Given the description of an element on the screen output the (x, y) to click on. 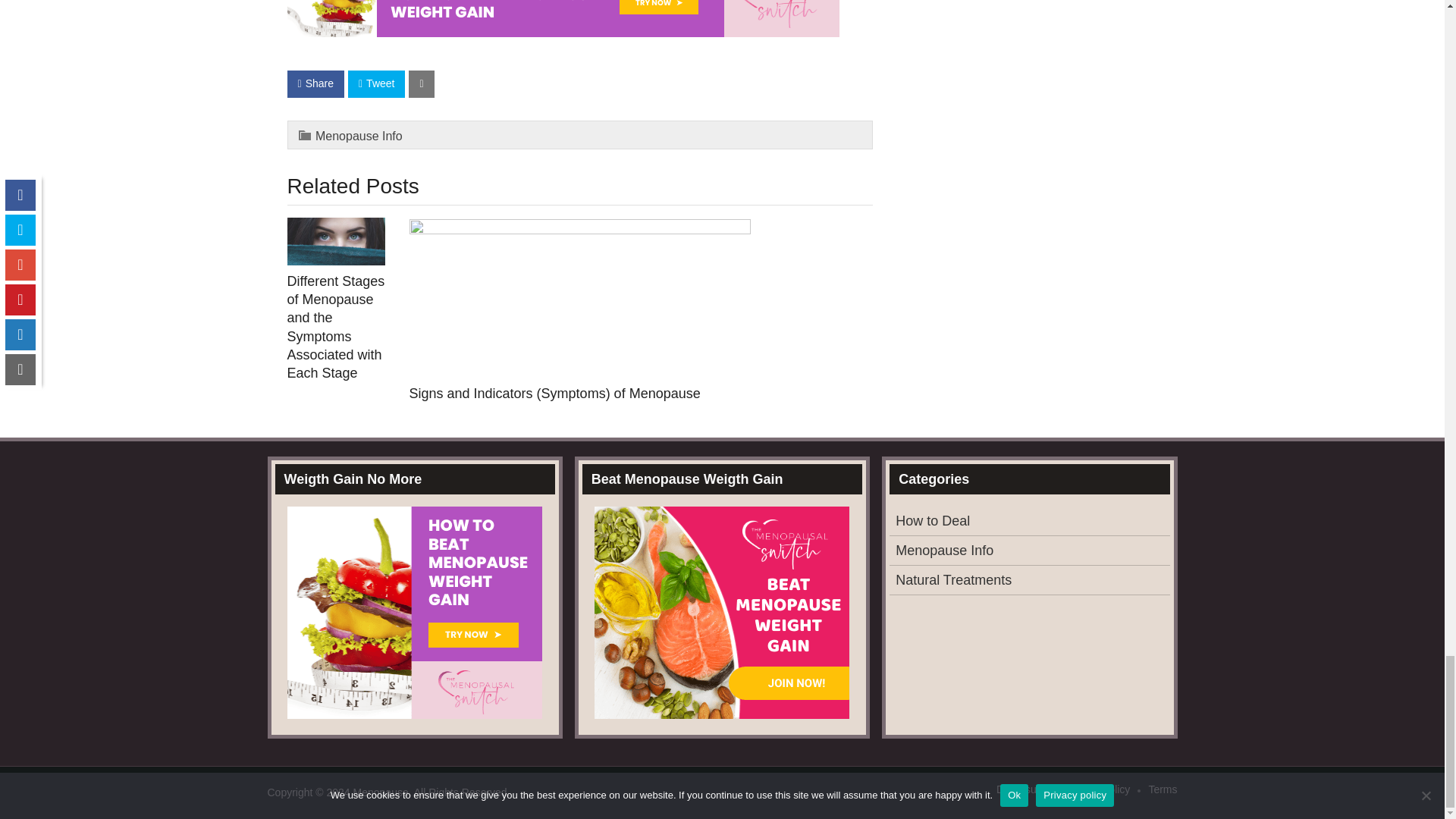
Share (314, 83)
Menopause Weigth Gain No More (562, 31)
Tweet (375, 83)
Share On Facebook (314, 83)
Menopause Weigth Gain No More (562, 18)
Tweet on Twitter (375, 83)
